Given the description of an element on the screen output the (x, y) to click on. 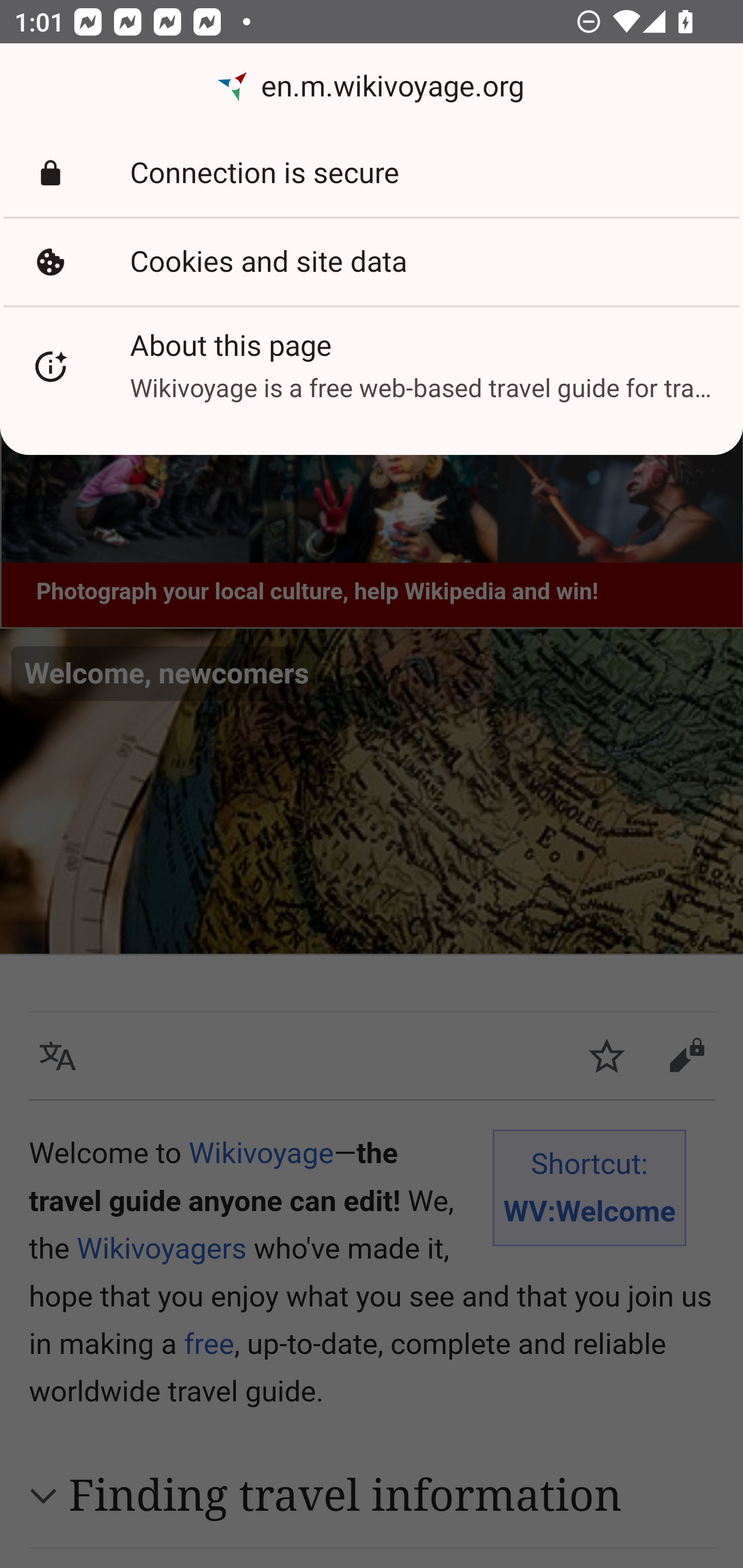
en.m.wikivoyage.org (371, 86)
Connection is secure (371, 173)
Cookies and site data (371, 261)
